Given the description of an element on the screen output the (x, y) to click on. 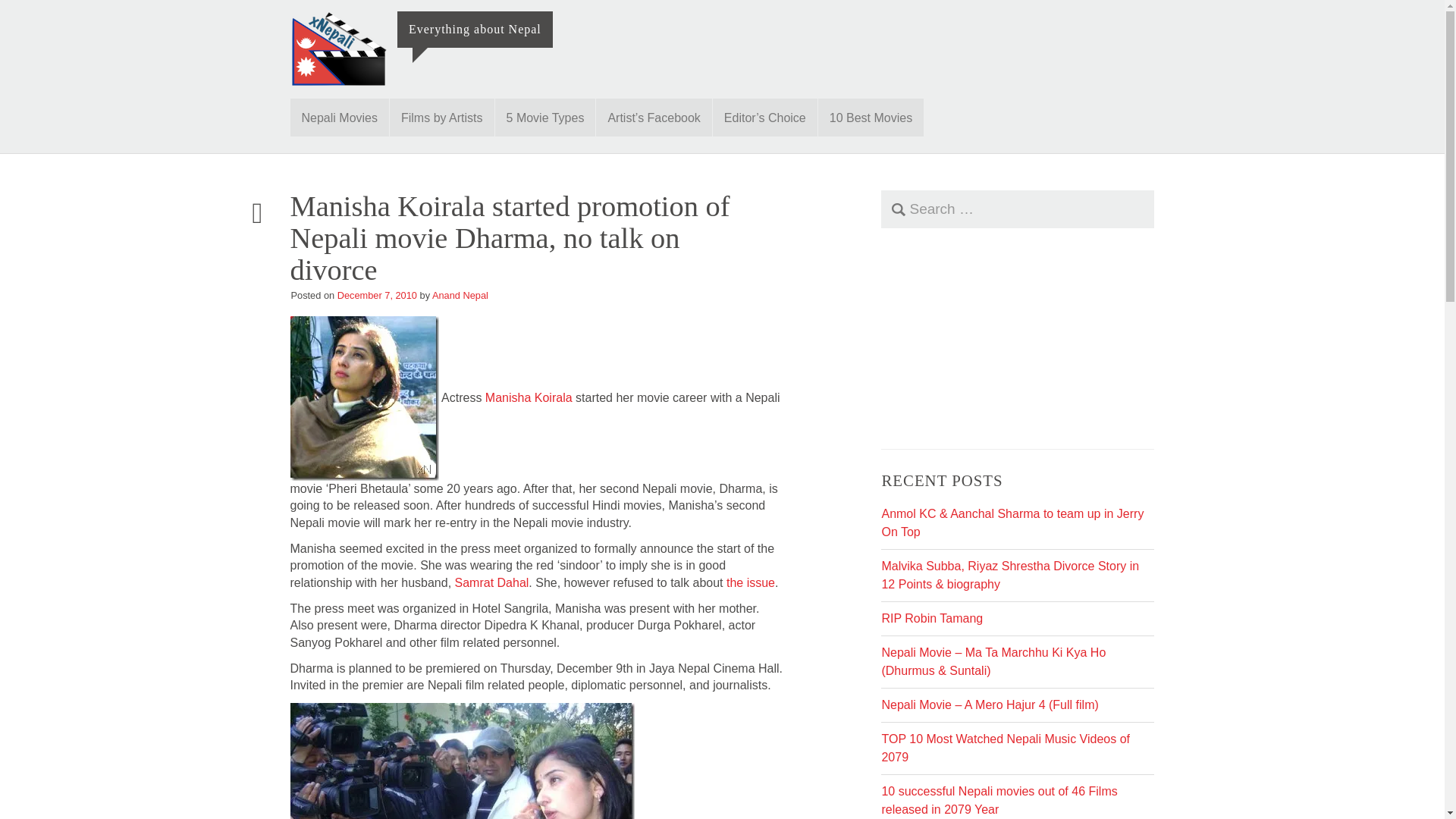
Nepali Movies (338, 117)
Films by Artists (442, 117)
manisha-talks-to-press (461, 760)
Films by Artists (442, 117)
Artist's Facebook (653, 117)
10 Best Movies (870, 117)
Anand Nepal (459, 295)
5 Movie Types (545, 117)
Samrat Dahal (491, 582)
10 Best Movies (870, 117)
